Given the description of an element on the screen output the (x, y) to click on. 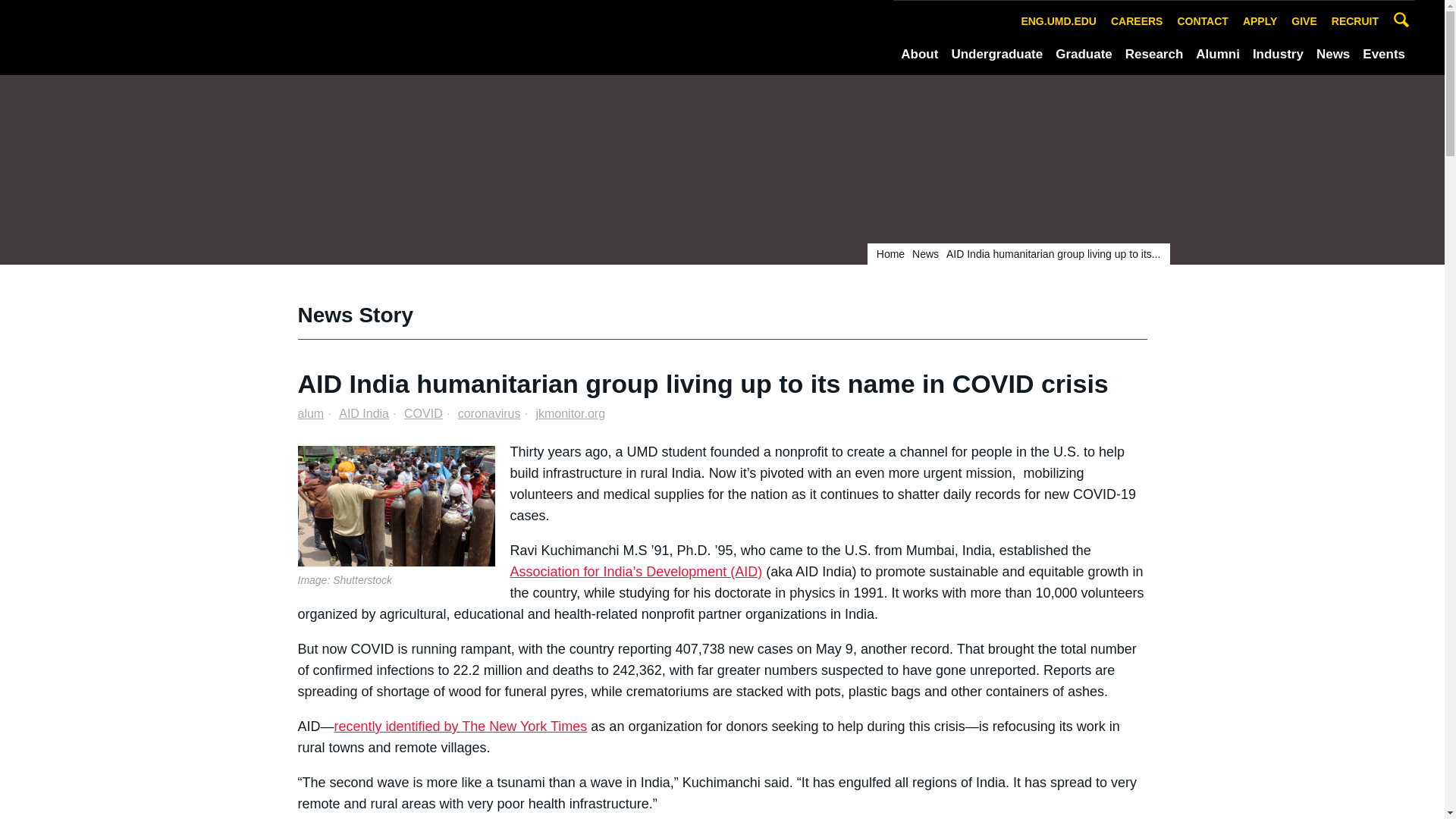
About (919, 54)
ENG.UMD.EDU (1058, 22)
CONTACT (1202, 22)
Undergraduate (996, 54)
A. James Clark School of Engineering, University of Maryland (209, 36)
GIVE (1303, 22)
CAREERS (1136, 22)
APPLY (1259, 22)
RECRUIT (1355, 22)
